Given the description of an element on the screen output the (x, y) to click on. 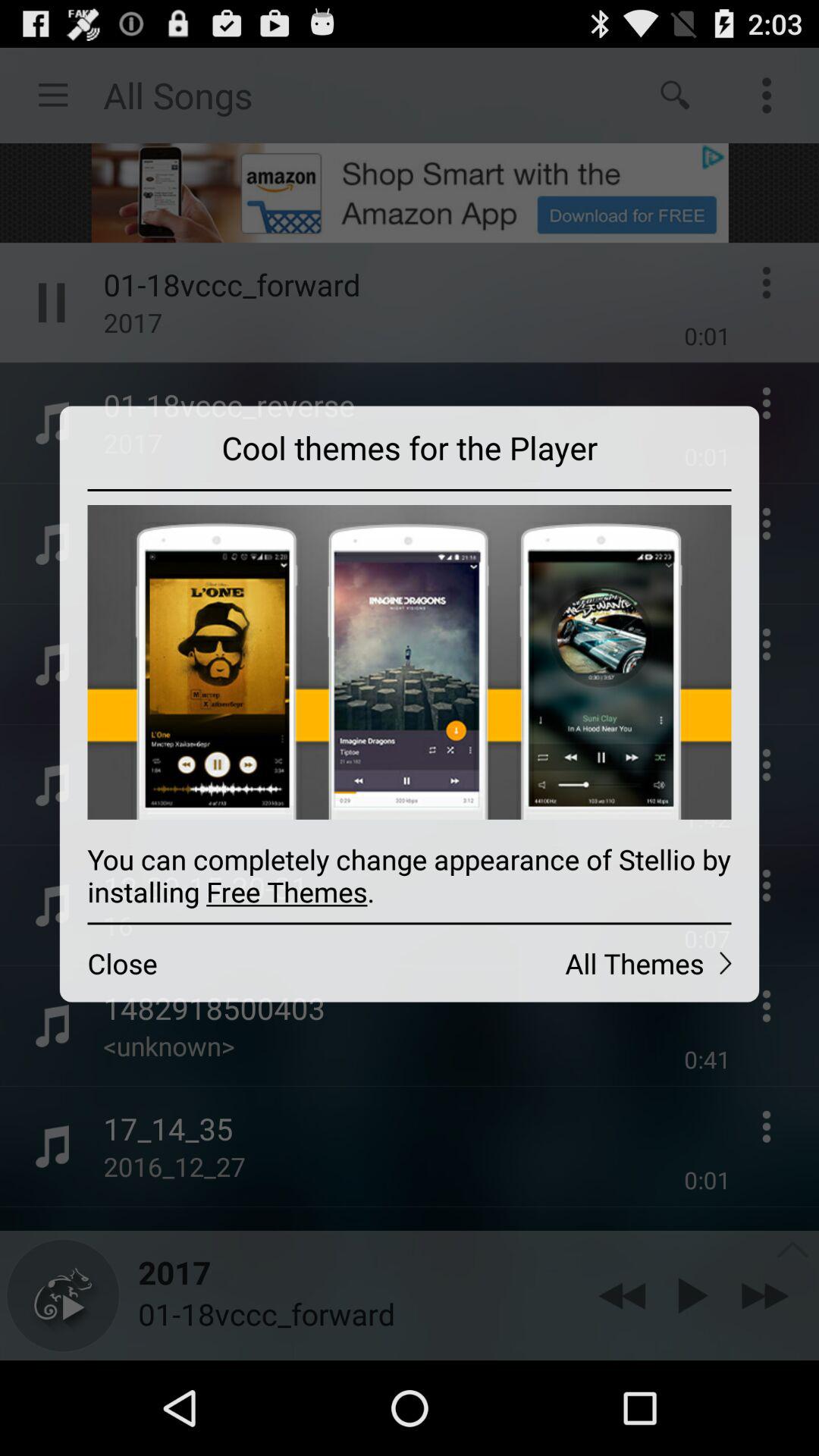
select all themes icon (584, 963)
